Given the description of an element on the screen output the (x, y) to click on. 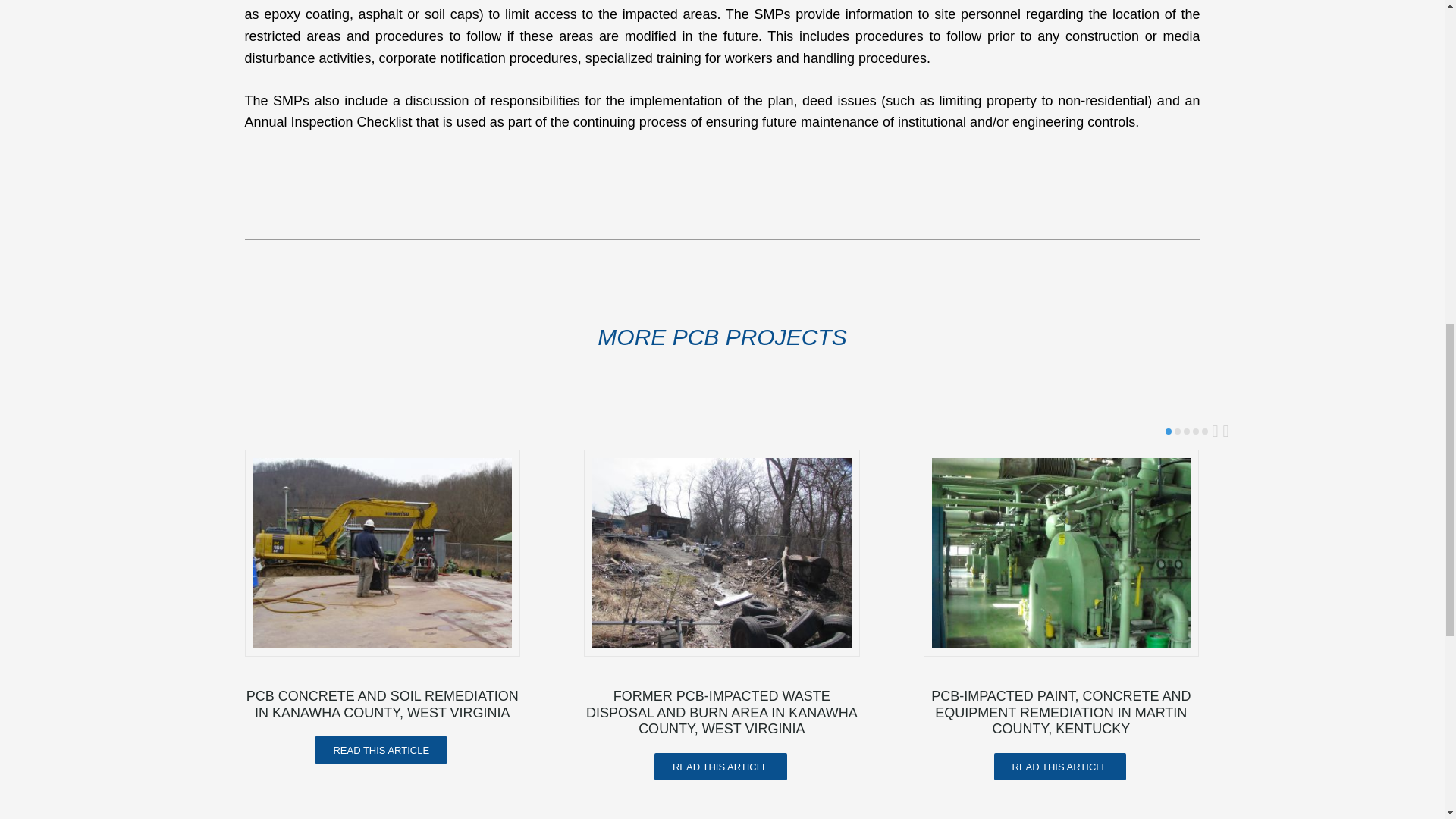
READ THIS ARTICLE (1060, 766)
READ THIS ARTICLE (380, 749)
READ THIS ARTICLE (720, 766)
